Given the description of an element on the screen output the (x, y) to click on. 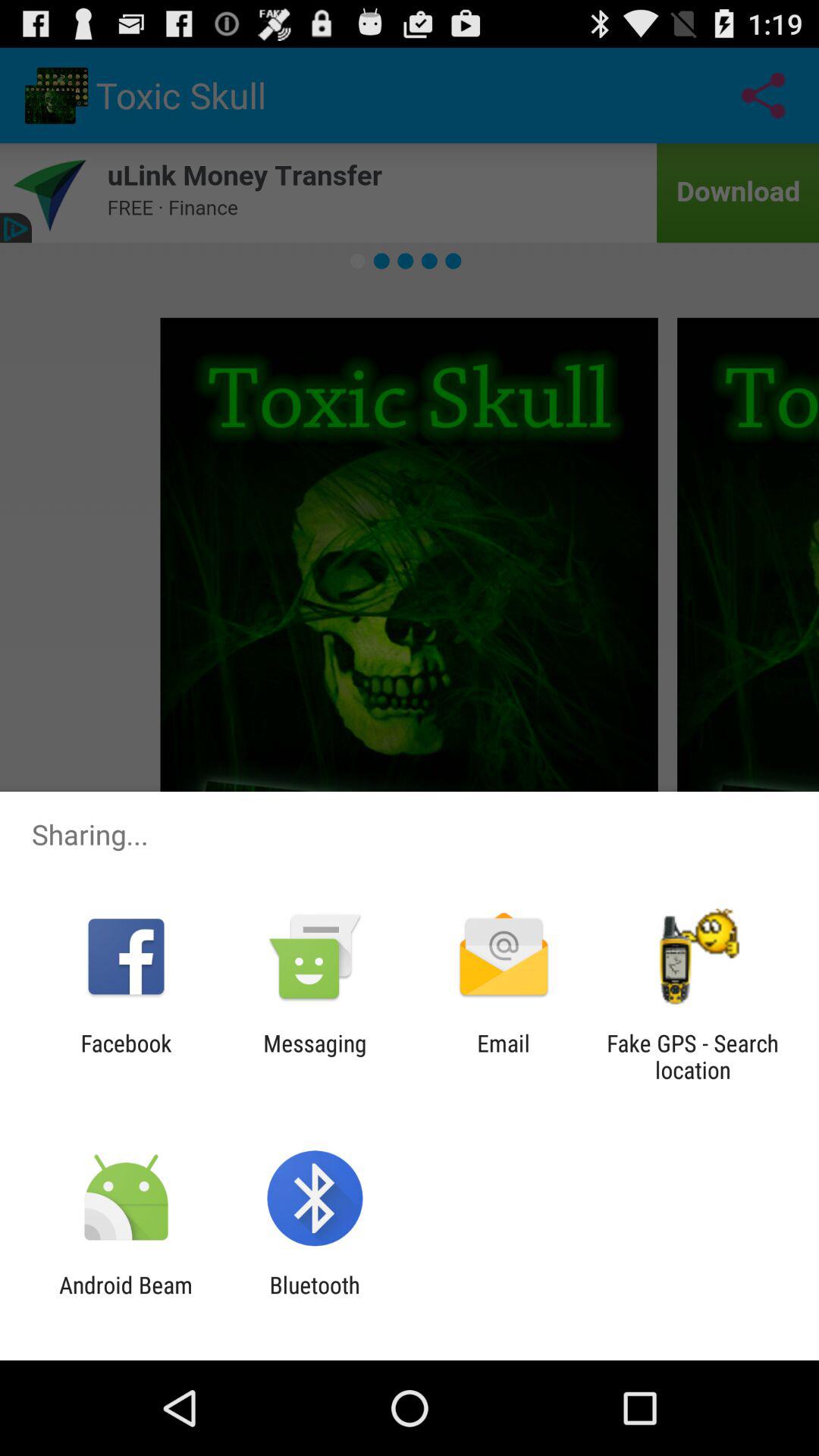
press app to the left of the bluetooth app (125, 1298)
